Given the description of an element on the screen output the (x, y) to click on. 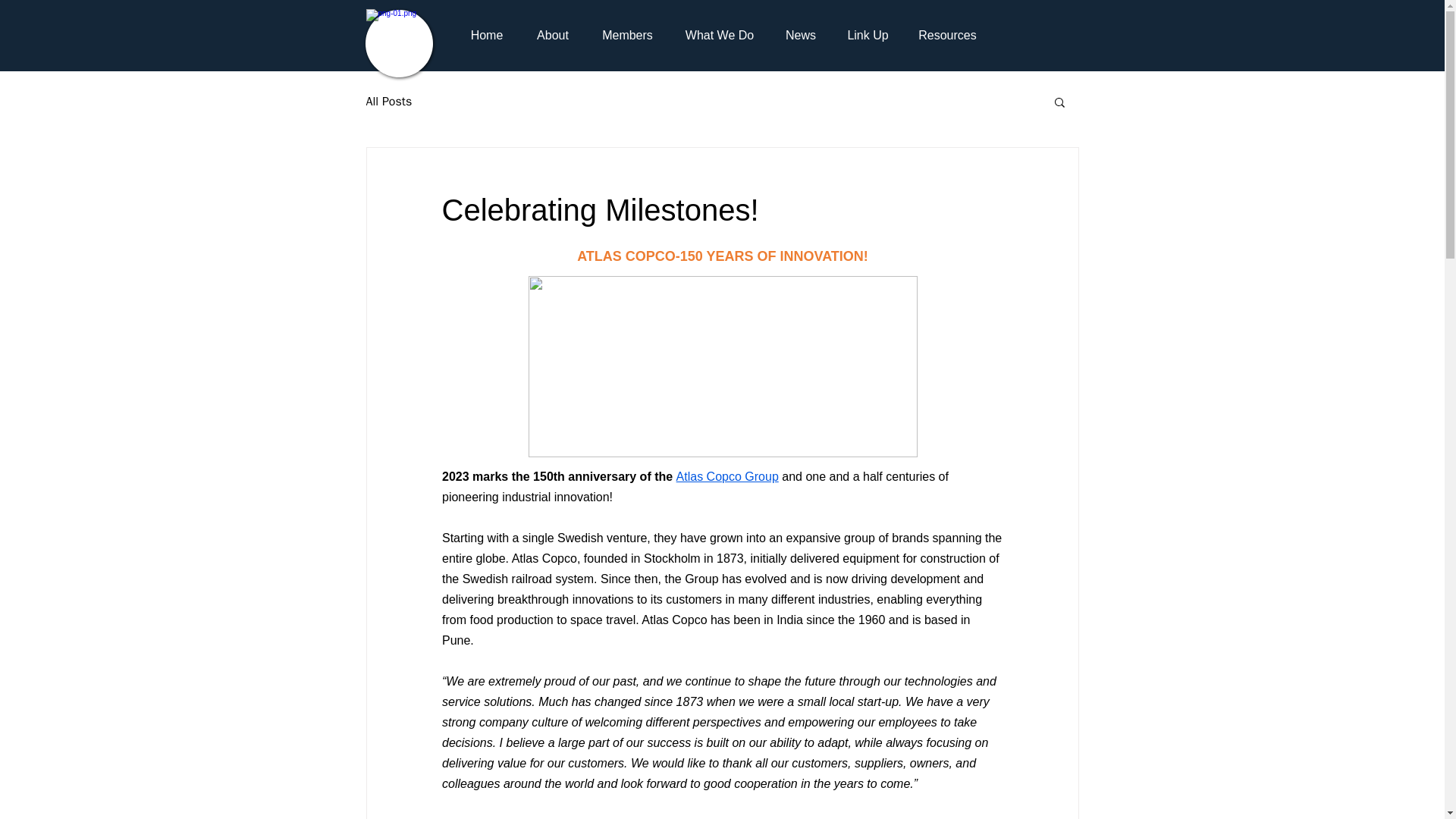
All Posts (388, 101)
Home (485, 35)
Atlas Copco Group (726, 476)
Link Up (867, 35)
Members (626, 35)
About (552, 35)
News (800, 35)
Resources (947, 35)
